Given the description of an element on the screen output the (x, y) to click on. 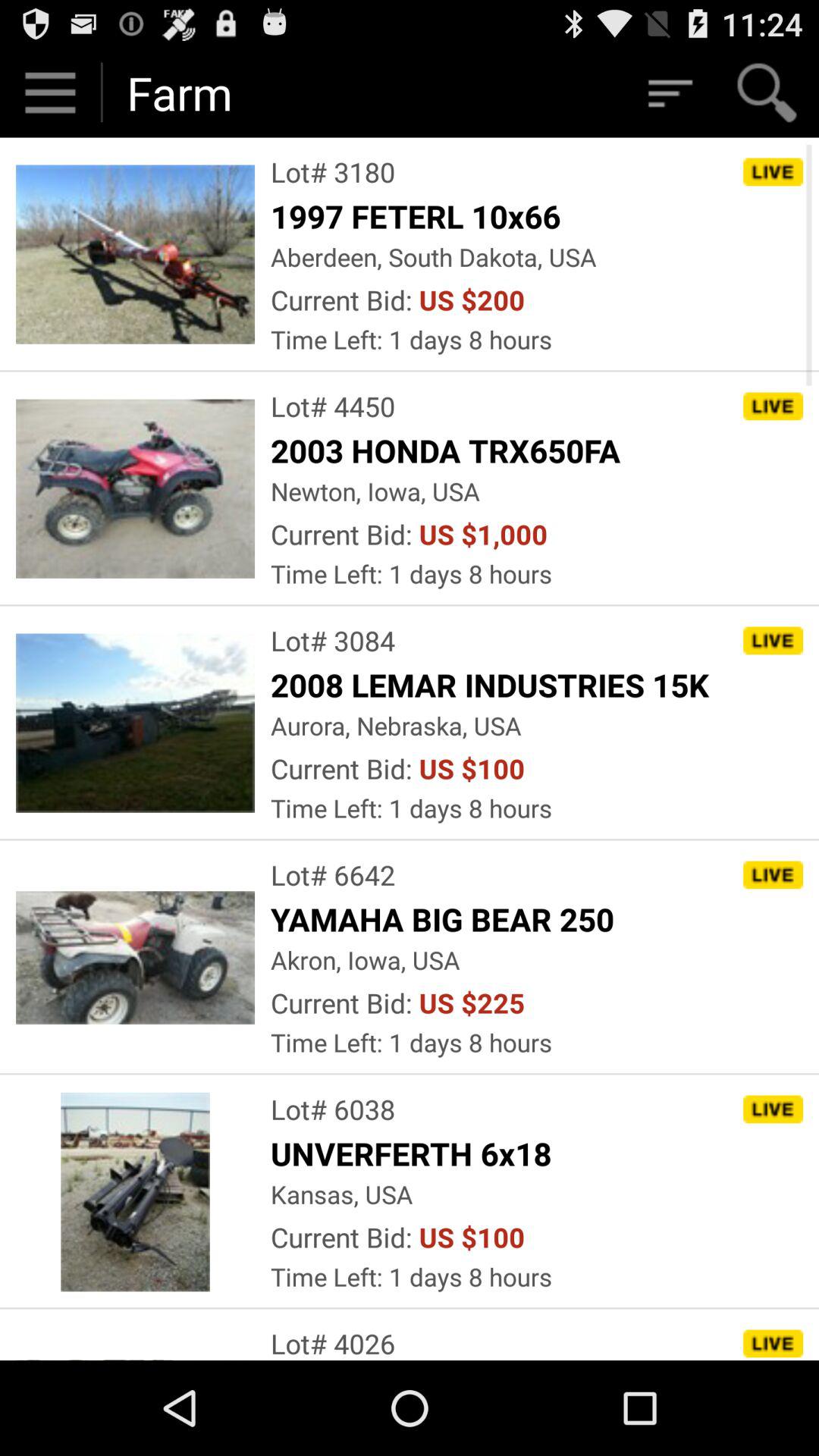
click on the image which is on the left of lot 4450 (134, 489)
select the button which is right to the text lot 3180 (772, 172)
click on the image which is left side of 1997 feterl 10x66 (134, 254)
